Given the description of an element on the screen output the (x, y) to click on. 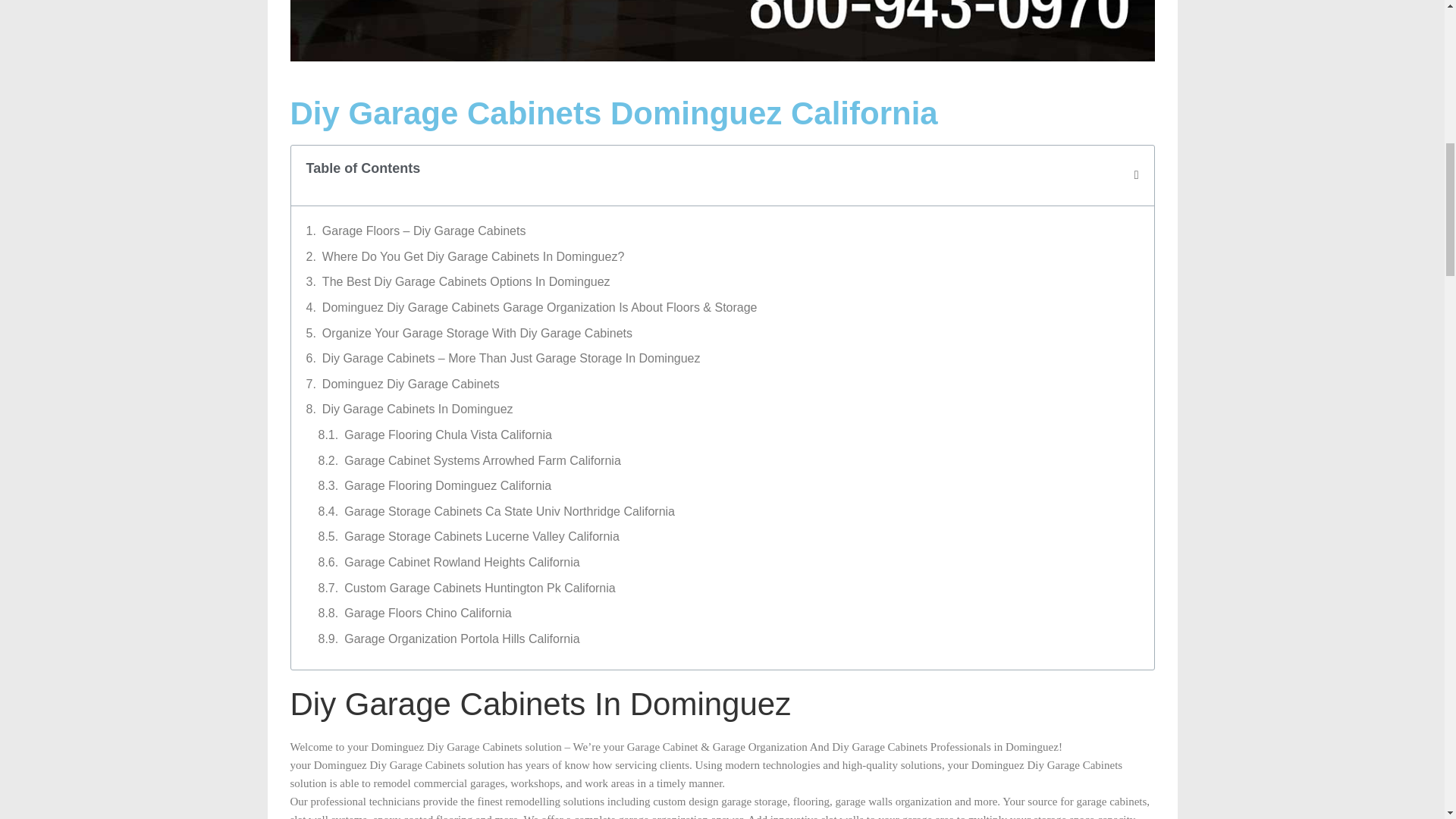
Garage Storage Cabinets Ca State Univ Northridge California (509, 511)
Garage Flooring Dominguez California (447, 485)
Garage Floors Chino California (427, 613)
Garage Cabinet Rowland Heights California (461, 562)
Garage Flooring Chula Vista California (447, 435)
Diy Garage Cabinets In Dominguez (417, 409)
Dominguez Diy Garage Cabinets (410, 383)
Garage Organization Portola Hills California (461, 639)
Garage Cabinet Systems Arrowhed Farm California (482, 460)
Organize Your Garage Storage With Diy Garage Cabinets (476, 333)
